Given the description of an element on the screen output the (x, y) to click on. 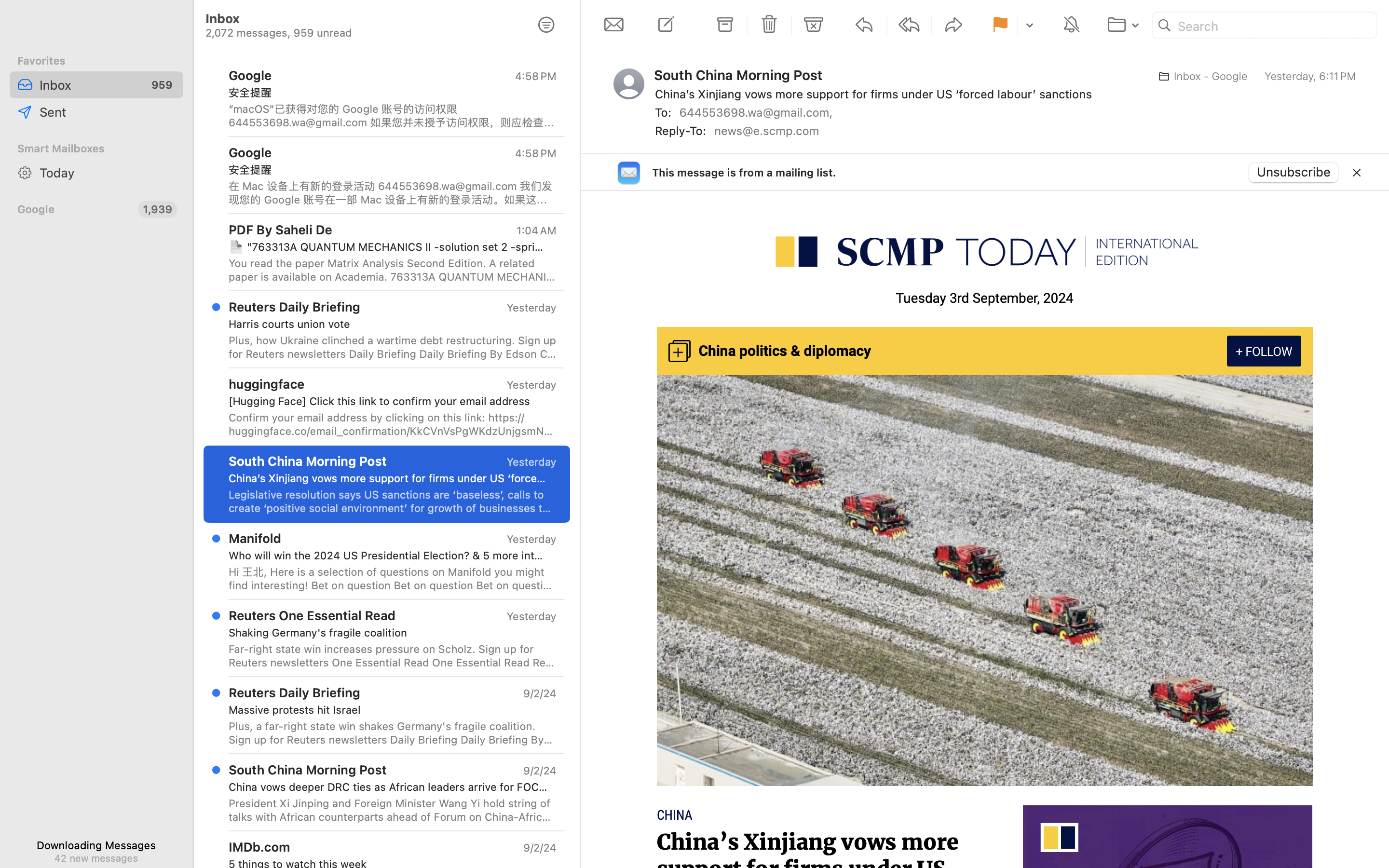
IMDb.com Element type: AXStaticText (259, 846)
huggingface Element type: AXStaticText (266, 383)
Plus, how Ukraine clinched a wartime debt restructuring. Sign up for Reuters newsletters Daily Briefing Daily Briefing By Edson Caldas Kamala Harris said that US Steel should remain in domestic hands, making a pitch to working-class voters in Pennsylvania who are also being courted by her rival Donald Trump. Elsewhere, we cover Britain's partial suspension of arms export licenses to Israel, and a slump in Intel's share price. Plus, why South Korea's beloved Kimchi is at risk. Today's Top News Kamala Harris with Joe Biden's first appearance together at a rally since she became the Democratic nominee. REUTERS/Quinn Glabicki US election Democratic presidential candidate Kamala Harris used campaign events in Michigan and Pennsylvania, two battleground states, to court the crucial labor vote. Harris has neutralized Donald Trump's edge on the economy among Hispanic voters, and her 13 percentage point lead within that group reflects the fact they vastly prefer her approach to healthcare and c Element type: AXStaticText (392, 346)
Far-right state win increases pressure on Scholz. Sign up for Reuters newsletters One Essential Read One Essential Read Recommended by Edson Caldas, Newsletter Editor Pressure mounts on Scholz Right-wing Alternative for Germany top candidate Bjoern Hoecke on the day of the Thuringia state election. REUTERS/Wolfgang Rattay The Alternative for Germany is on track to become the first far-right party to win a regional election in Germany since World War Two, dealing a blow to parties in Chancellor Olaf Scholz's government. The results are likely to aggravate instability in an already fractious ruling coalition, Chief Correspondent Sarah Marsh reports. The German government's faltering authority could also complicate European policy when the bloc's other major power France is still struggling to form a government. Read the full article Sponsors are not involved in the creation of newsletters or other Reuters news content. Advertise in this newsletter or on Reuters.com Reuters One Essential R Element type: AXStaticText (392, 655)
4:58 PM Element type: AXStaticText (535, 75)
